Given the description of an element on the screen output the (x, y) to click on. 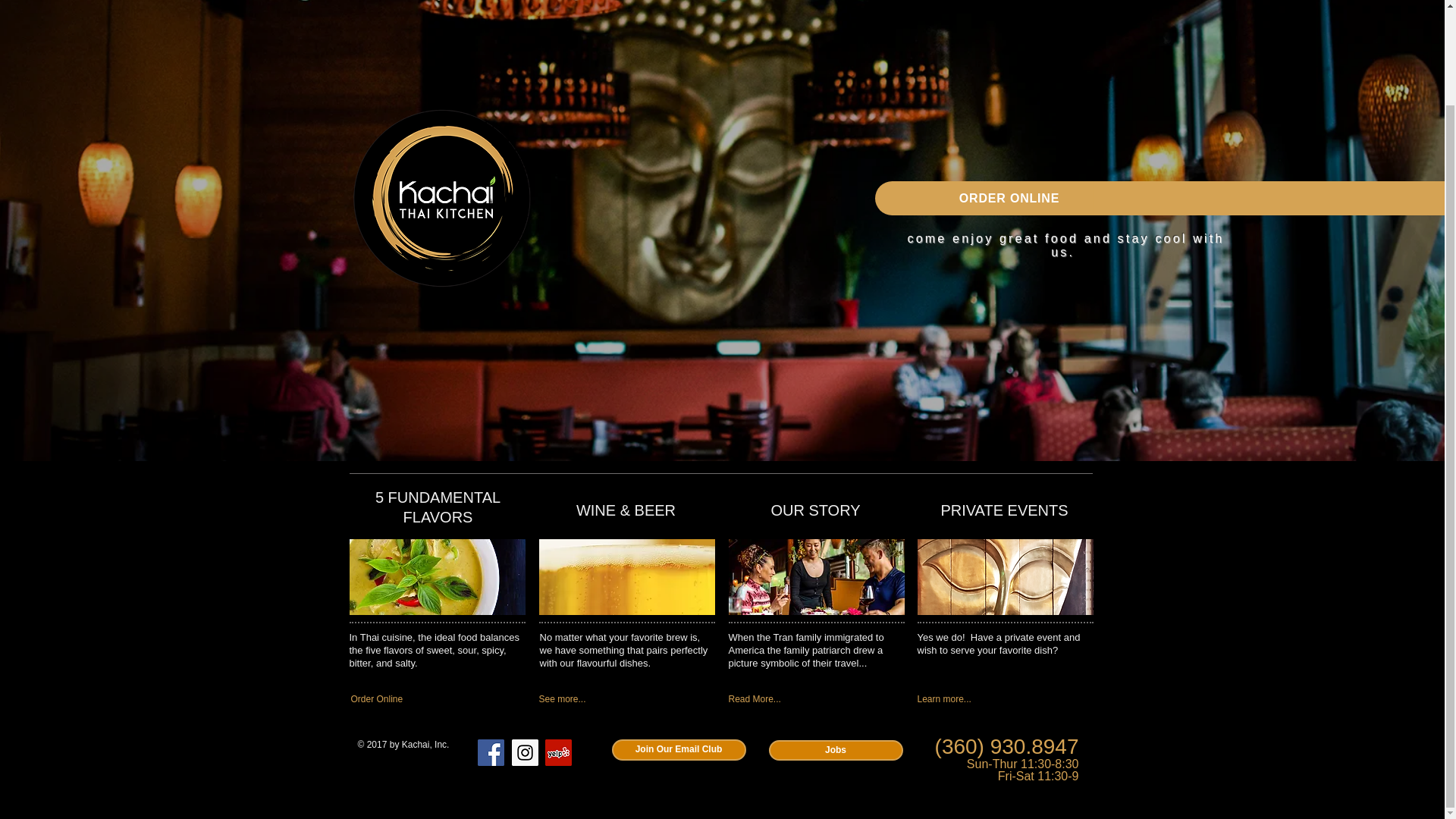
Read More... (805, 699)
ORDER ONLINE (1009, 197)
Order Online (427, 699)
See more... (616, 699)
Learn more... (995, 699)
Jobs (835, 750)
Join Our Email Club (678, 749)
